Given the description of an element on the screen output the (x, y) to click on. 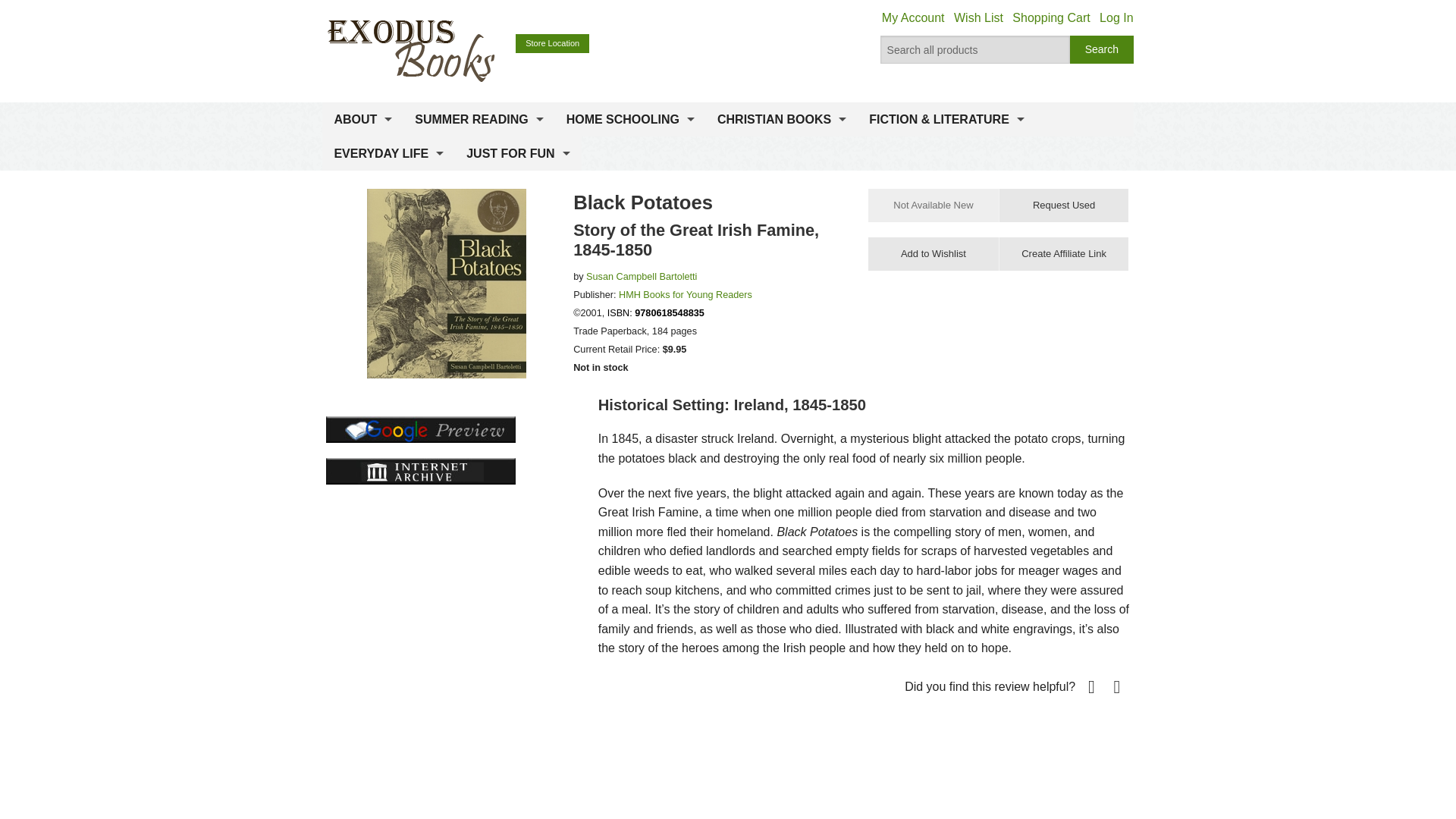
Not Available New (932, 205)
My Account (913, 17)
Not Available New (932, 205)
SUMMER READING (478, 119)
ISBN: 9780618548835 (655, 312)
Create Affiliate Link (1063, 254)
CHRISTIAN BOOKS (781, 119)
Add to Wishlist (932, 254)
HMH Books for Young Readers (685, 294)
Susan Campbell Bartoletti (641, 276)
request used (1063, 205)
ABOUT (362, 119)
EVERYDAY LIFE (387, 153)
Request Used (1063, 205)
Search (1102, 49)
